Given the description of an element on the screen output the (x, y) to click on. 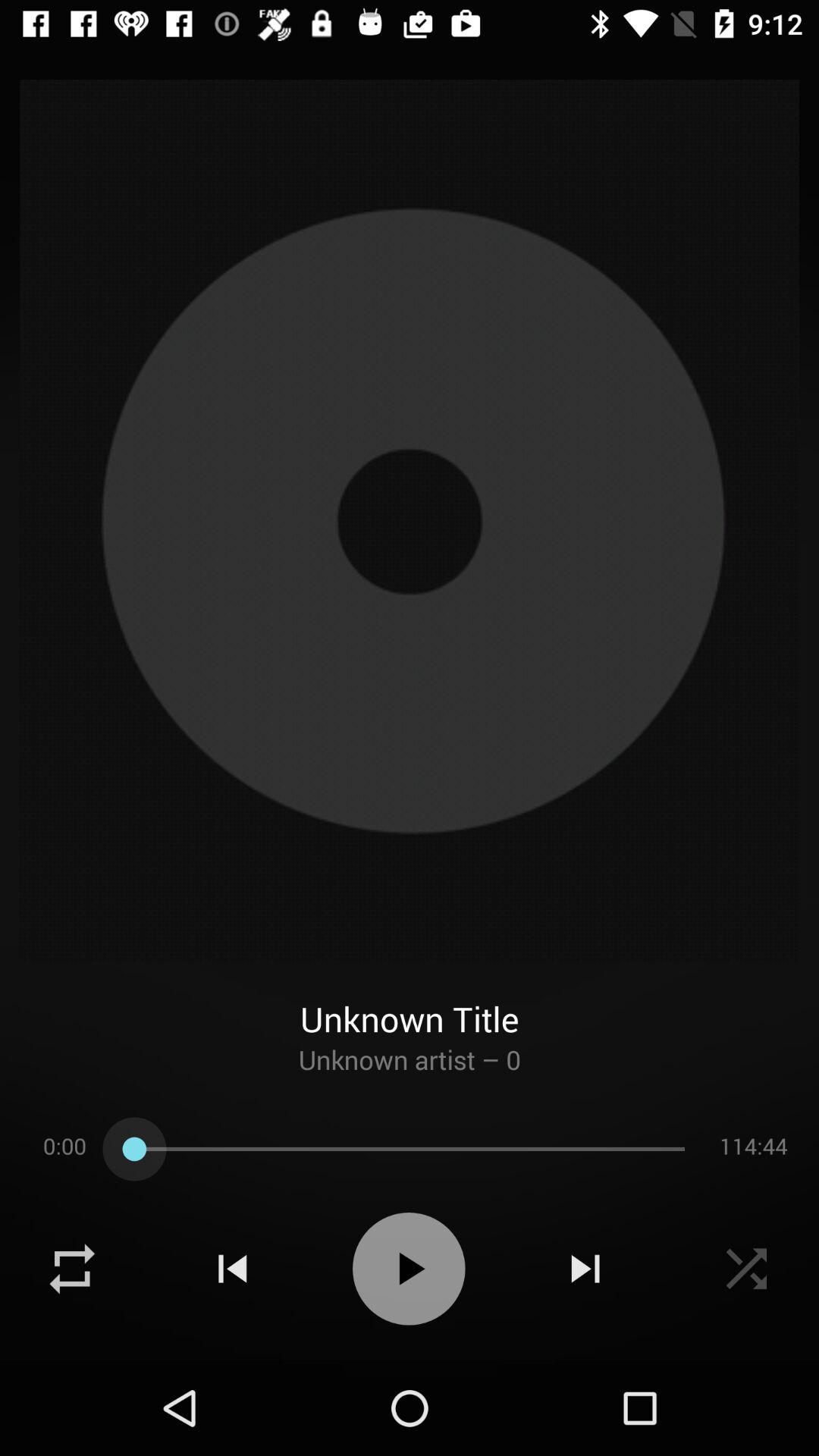
close the video (746, 1268)
